Given the description of an element on the screen output the (x, y) to click on. 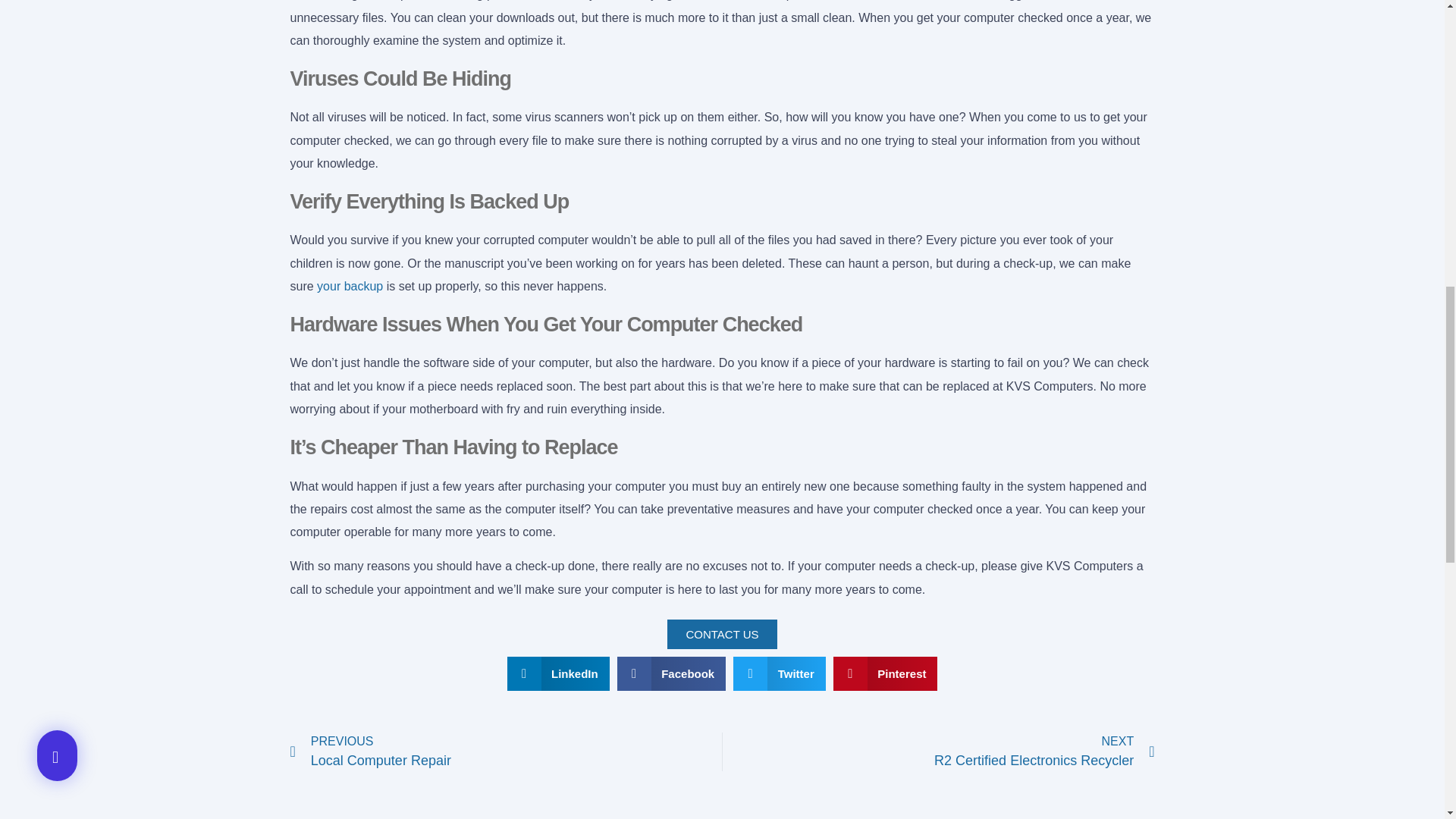
CONTACT US (721, 634)
your backup (505, 751)
